Given the description of an element on the screen output the (x, y) to click on. 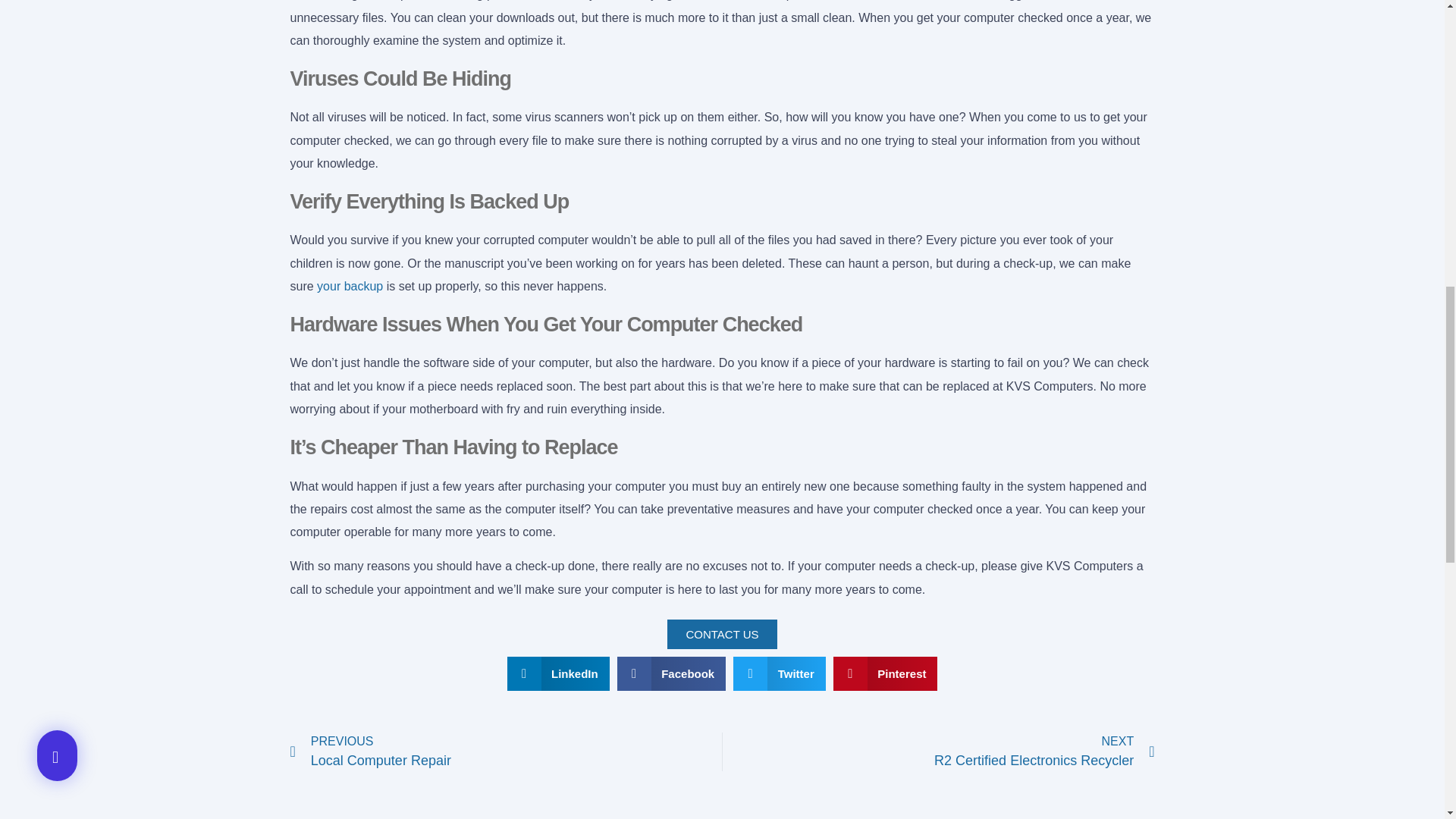
CONTACT US (721, 634)
your backup (505, 751)
